Given the description of an element on the screen output the (x, y) to click on. 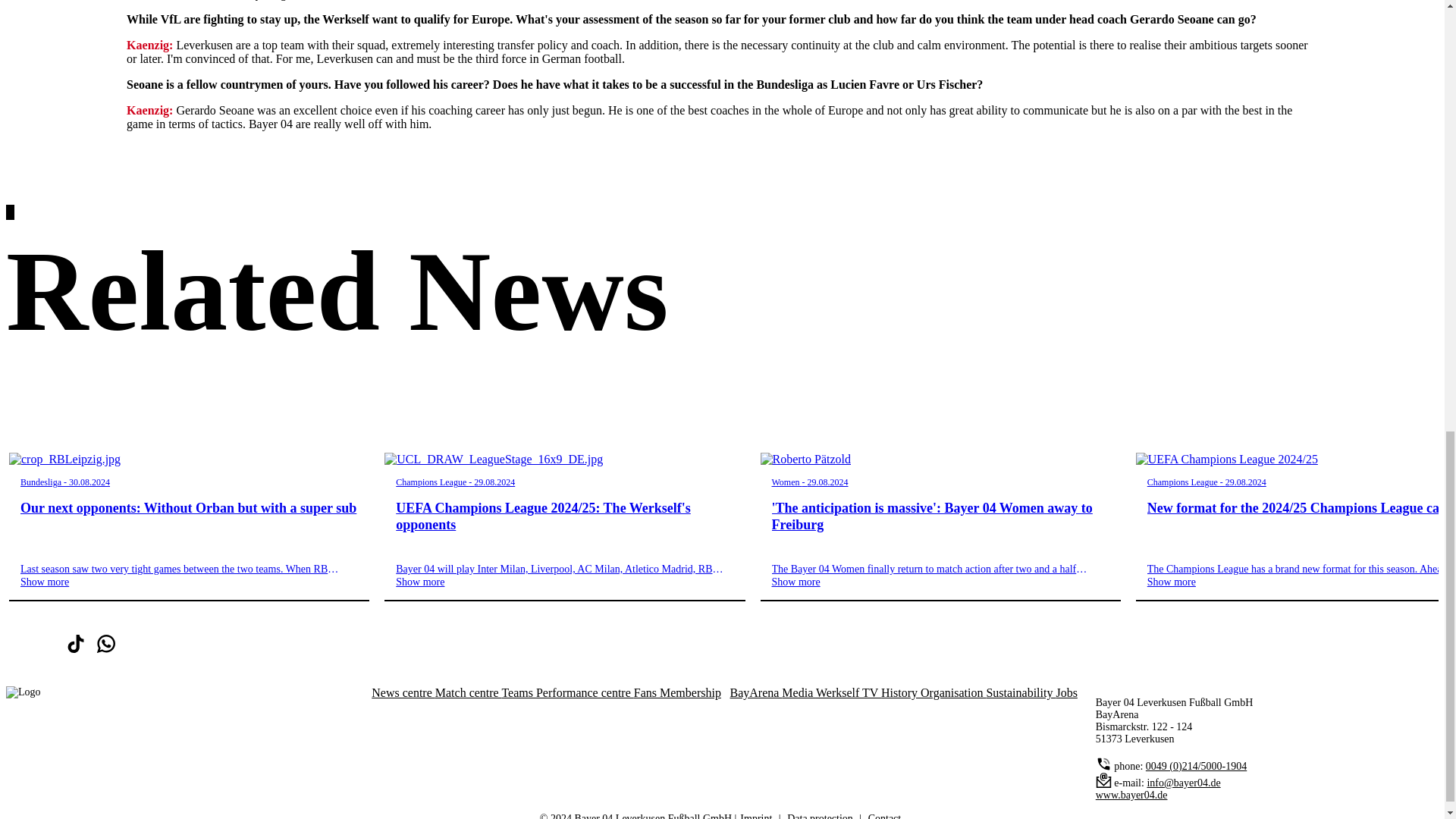
History (900, 692)
Sustainability (1020, 692)
Match centre (468, 692)
Fans (646, 692)
Membership (689, 692)
BayArena (755, 692)
Teams (517, 692)
News centre (403, 692)
Werkself TV (847, 692)
Jobs (1066, 692)
